Given the description of an element on the screen output the (x, y) to click on. 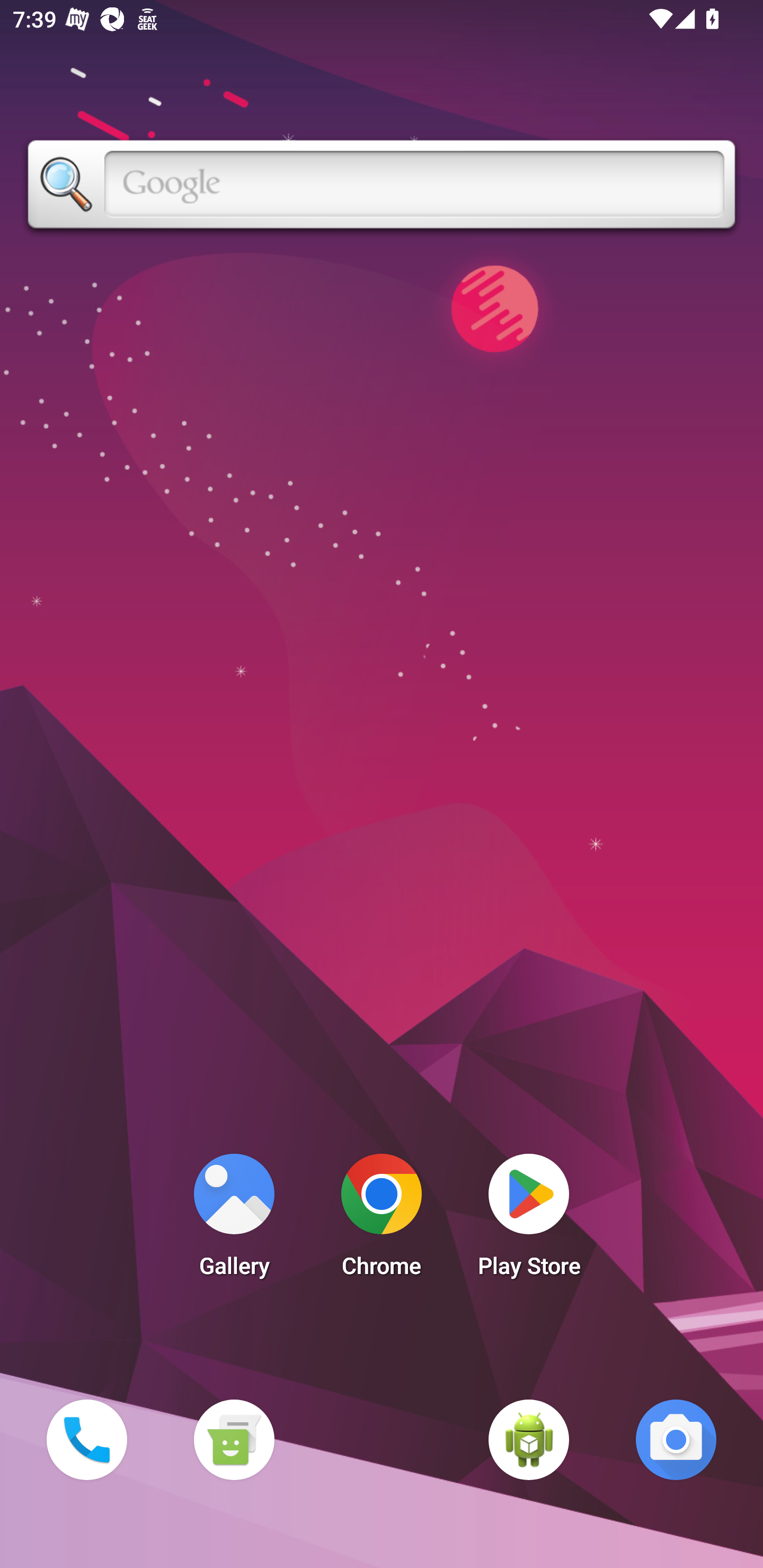
Gallery (233, 1220)
Chrome (381, 1220)
Play Store (528, 1220)
Phone (86, 1439)
Messaging (233, 1439)
WebView Browser Tester (528, 1439)
Camera (676, 1439)
